Given the description of an element on the screen output the (x, y) to click on. 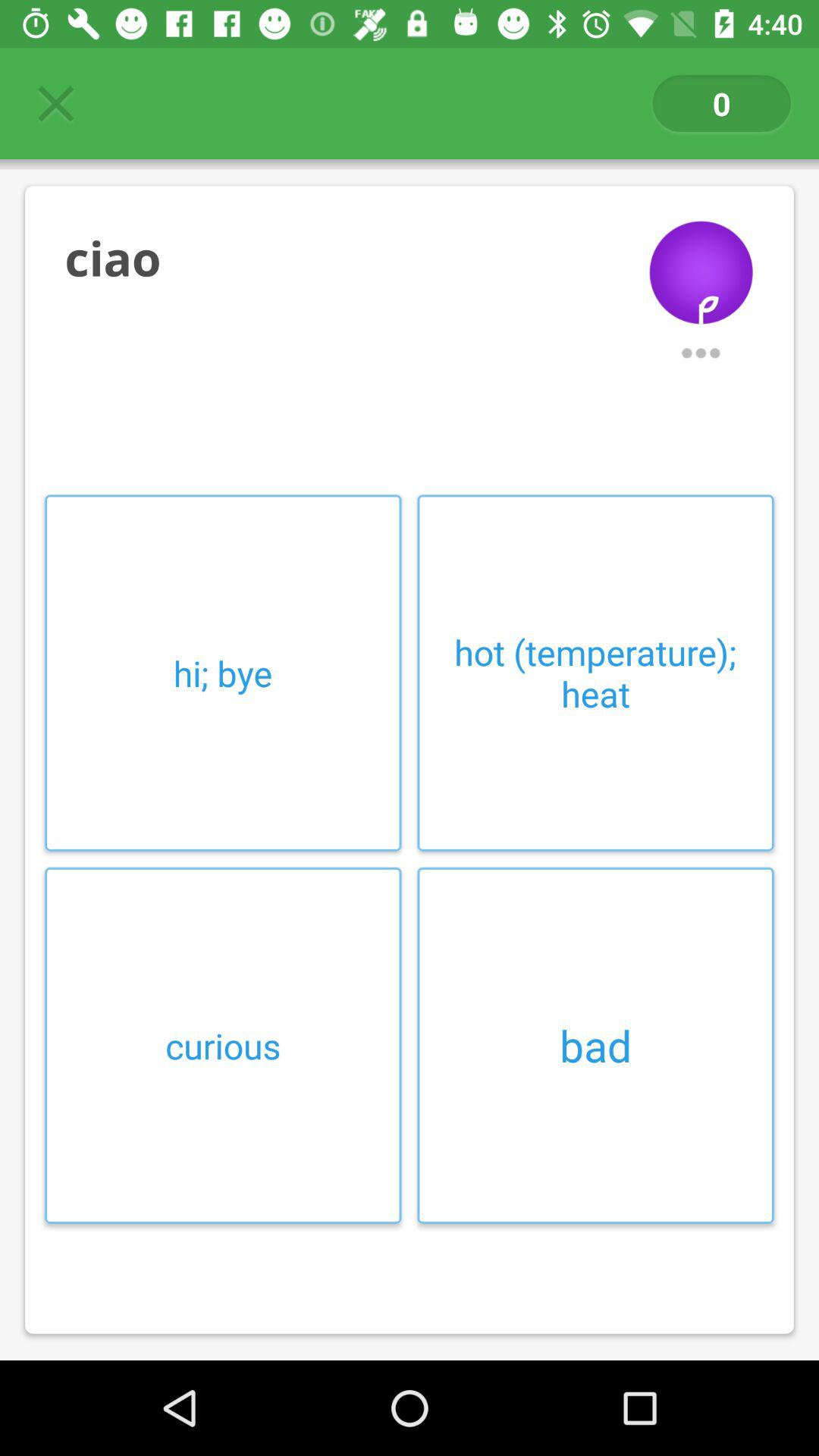
select the icon to the left of bad item (222, 1045)
